Given the description of an element on the screen output the (x, y) to click on. 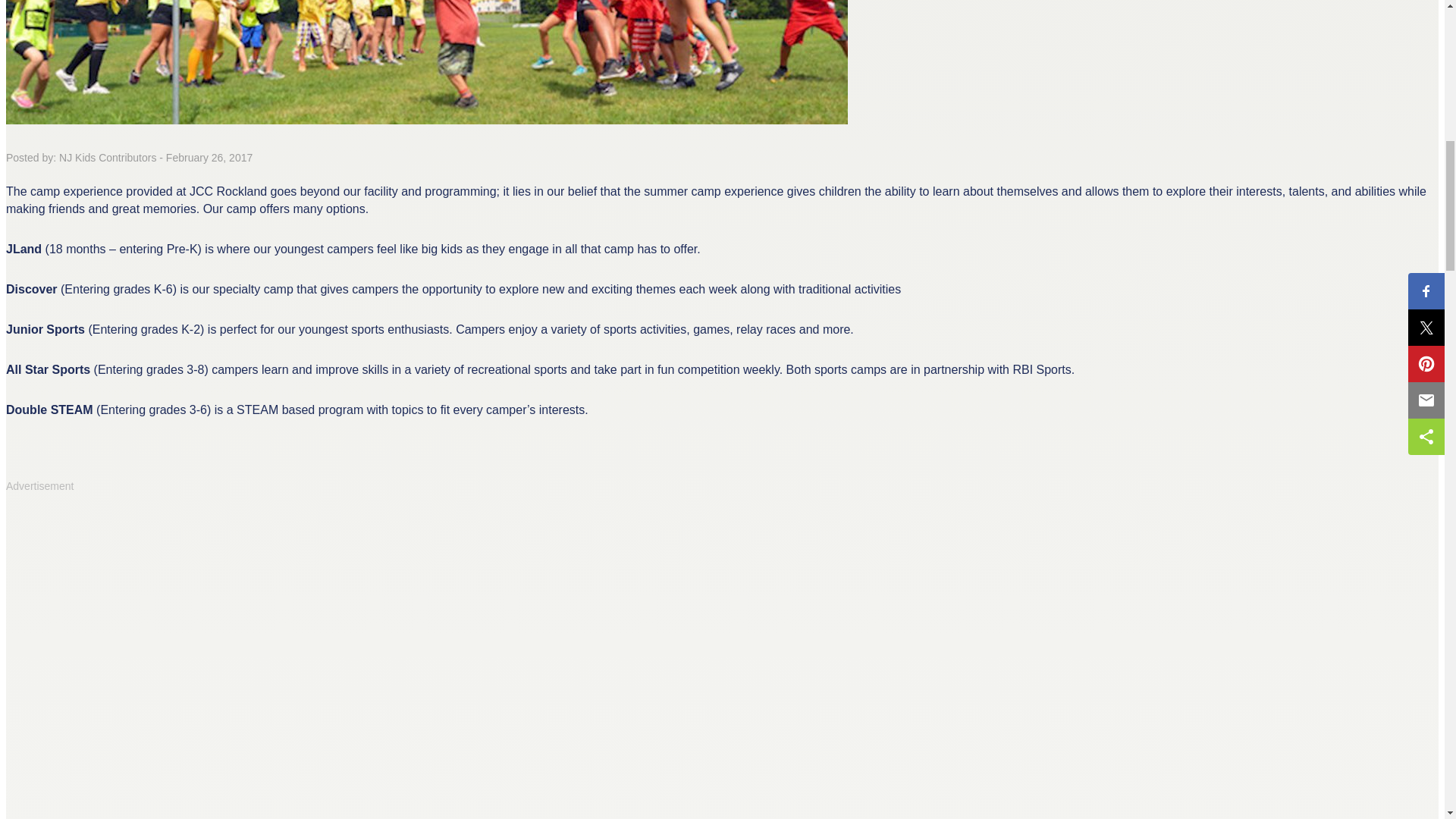
3rd party ad content (118, 755)
3rd party ad content (118, 597)
